Given the description of an element on the screen output the (x, y) to click on. 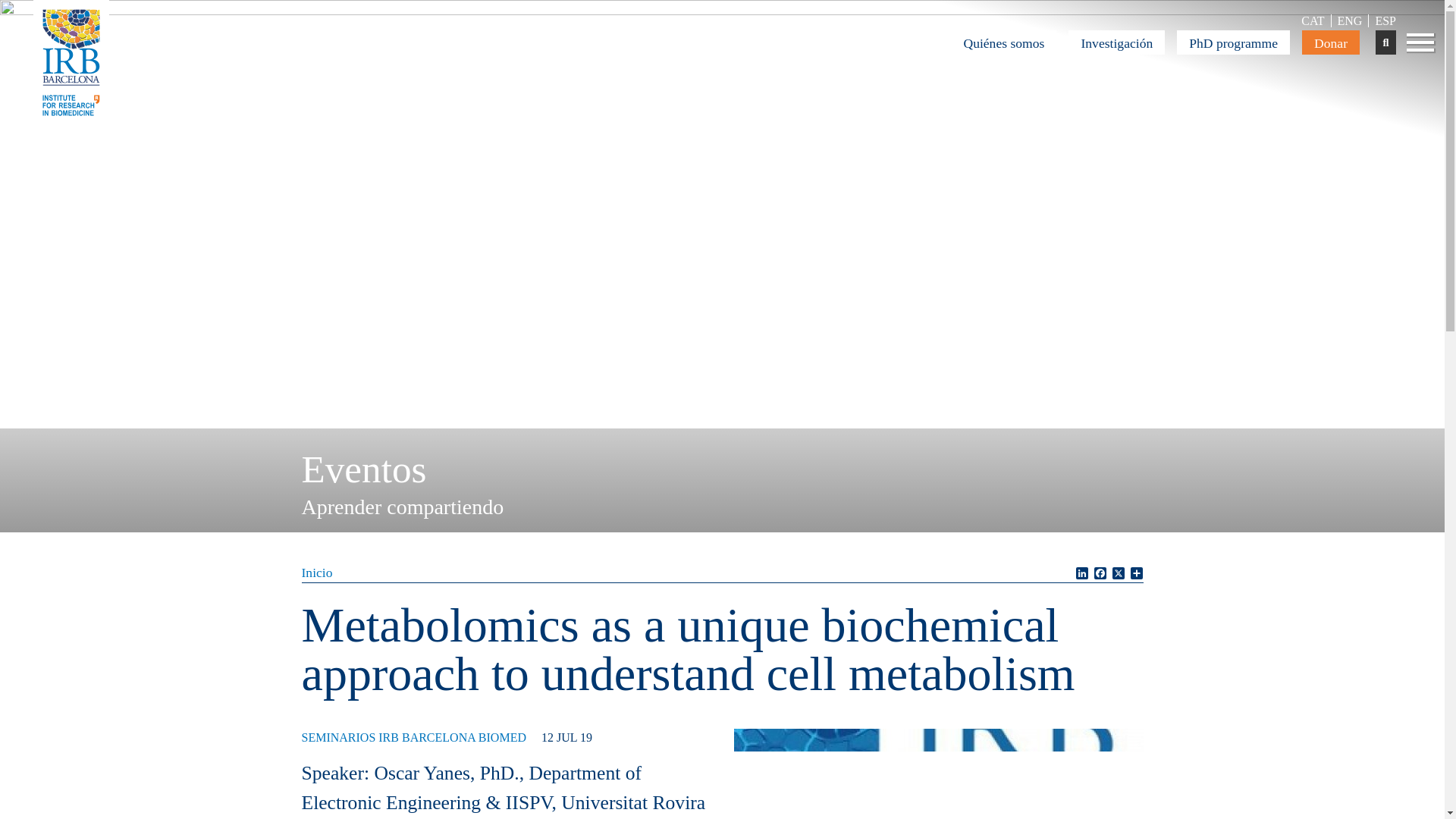
LinkedIn (1080, 572)
Inicio (317, 572)
Share (1135, 572)
PhD programme (1233, 42)
SEMINARIOS IRB BARCELONA BIOMED (413, 737)
X (1117, 572)
Donar (1330, 42)
ESP (1385, 20)
ENG (1349, 20)
